Given the description of an element on the screen output the (x, y) to click on. 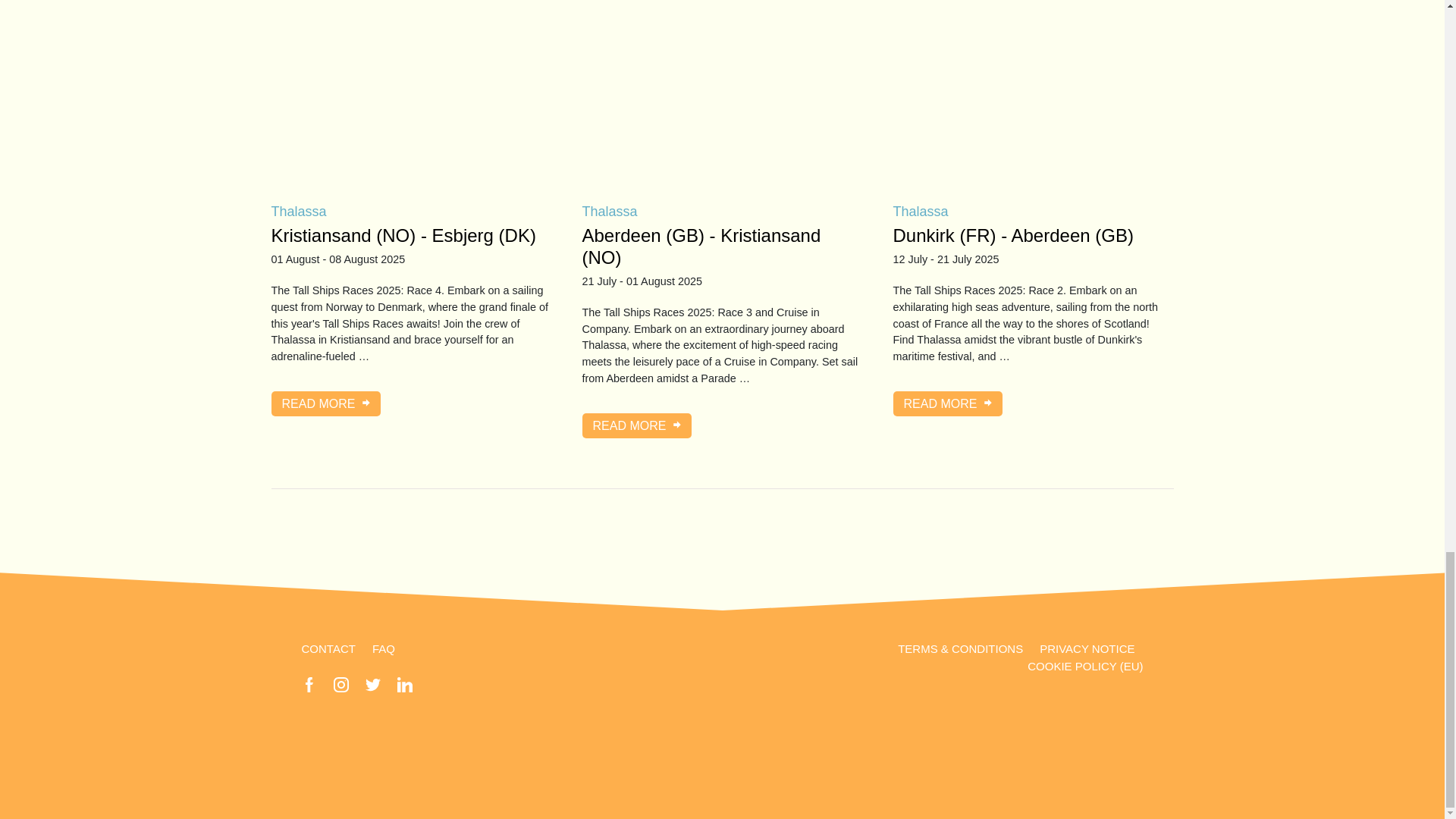
Instagram (341, 684)
Twitter (372, 684)
Facebook (309, 684)
LinkedIn (404, 684)
